Given the description of an element on the screen output the (x, y) to click on. 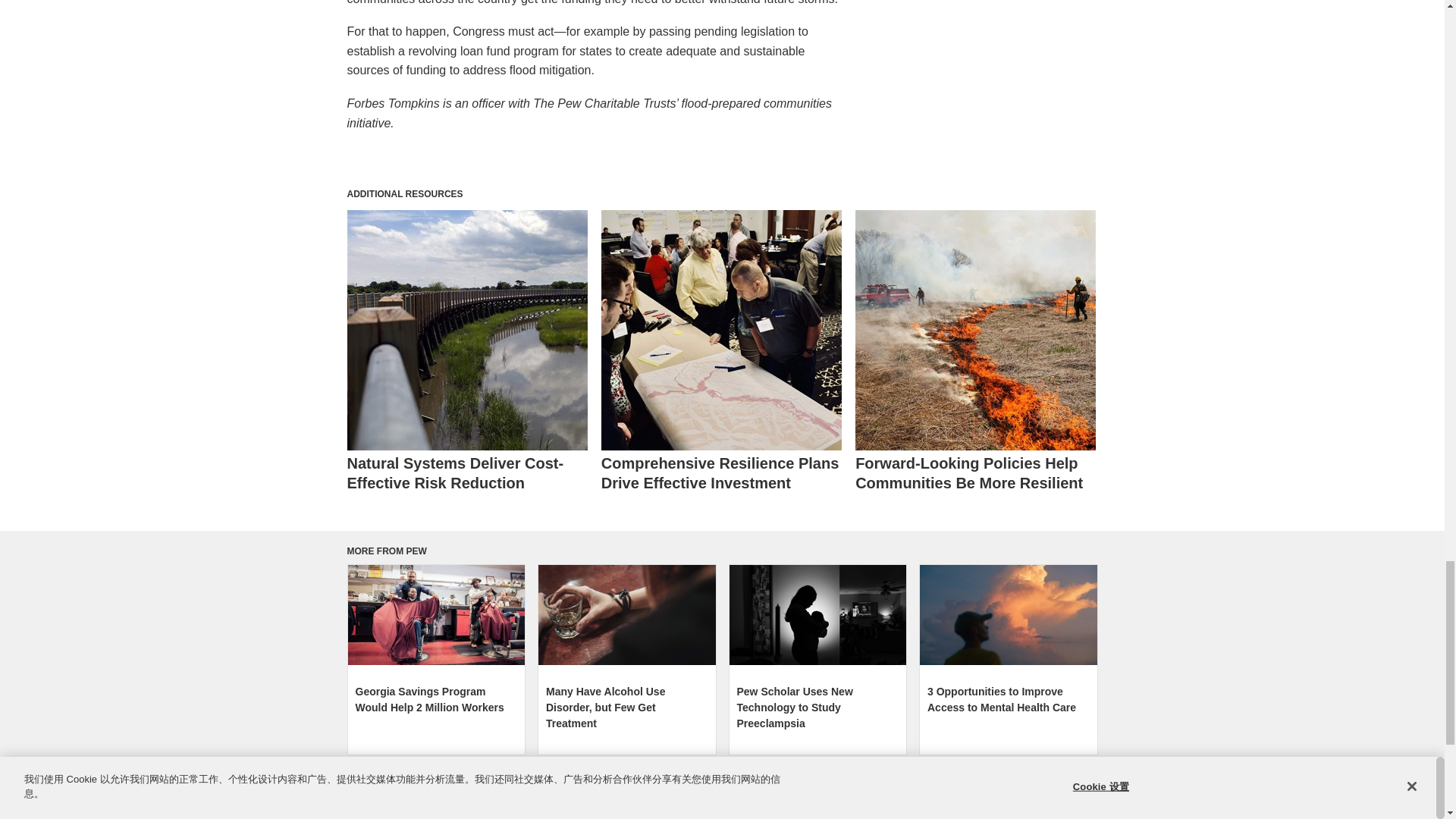
Getty Images (435, 614)
